Given the description of an element on the screen output the (x, y) to click on. 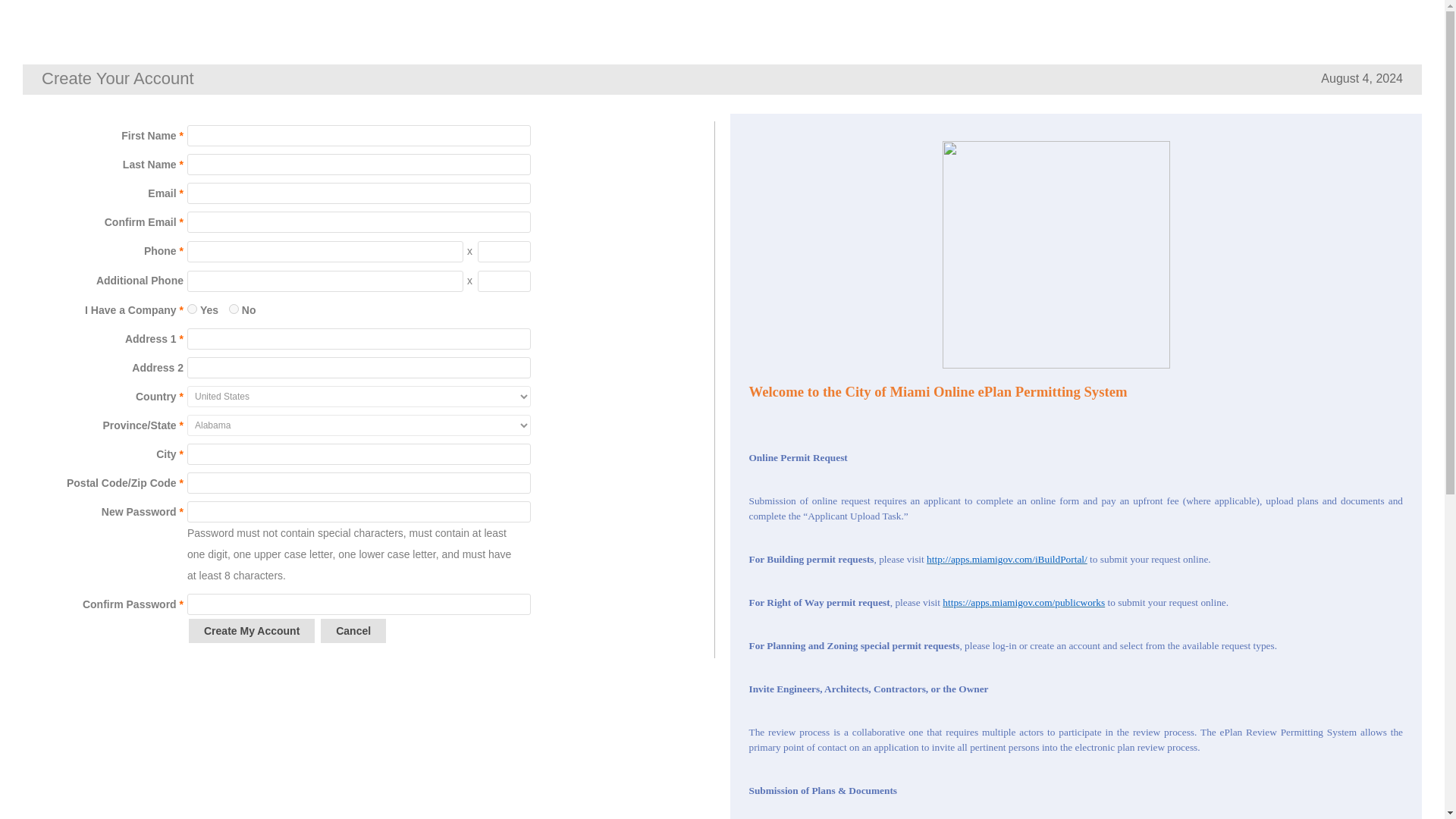
0 (233, 308)
Create My Account (251, 630)
Create My Account (251, 630)
1 (191, 308)
Cancel (352, 630)
